Given the description of an element on the screen output the (x, y) to click on. 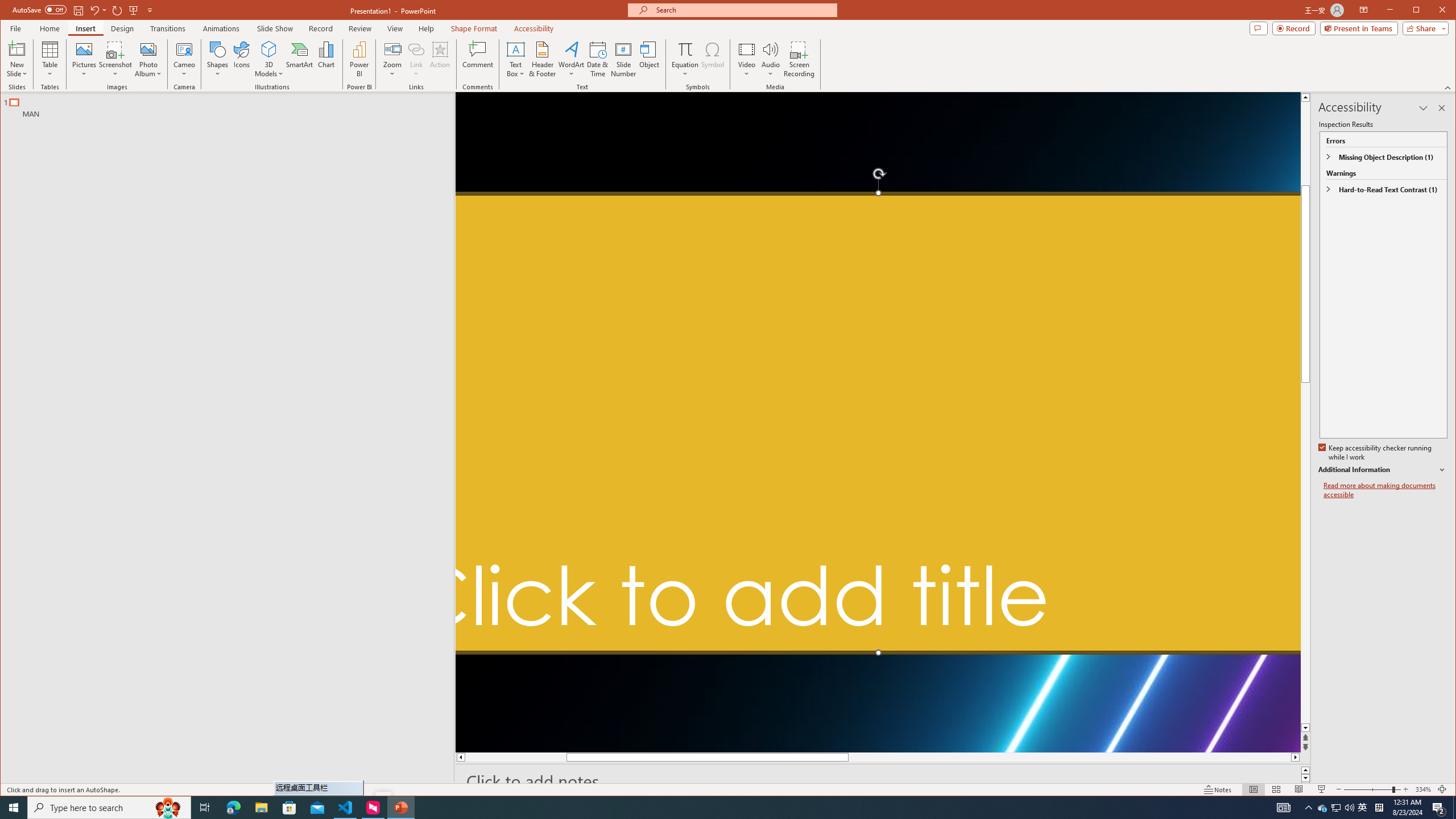
Screen Recording... (799, 59)
